Given the description of an element on the screen output the (x, y) to click on. 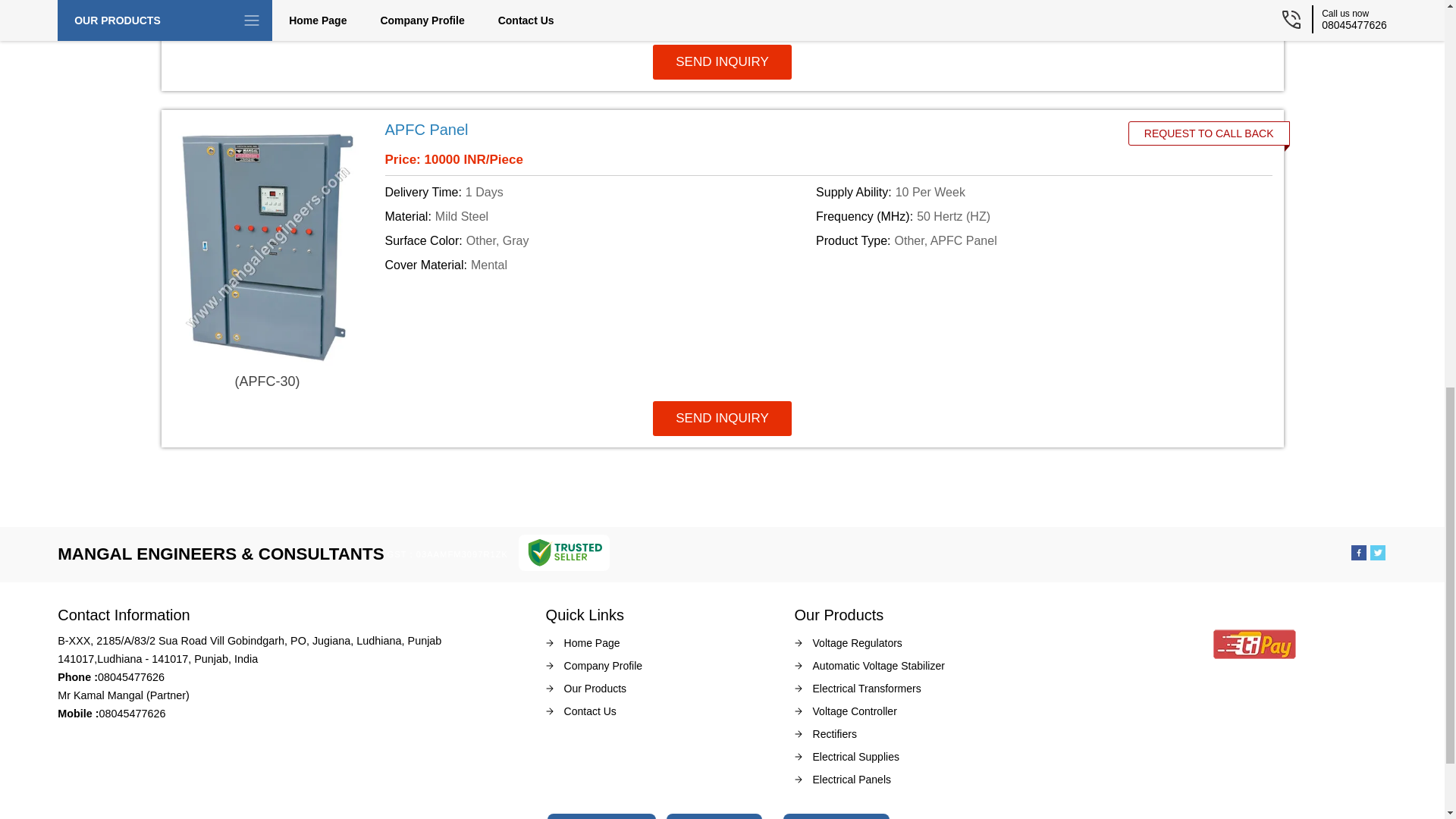
Delivery Time: 1 Days (597, 192)
Material: Mild Steel (597, 217)
APFC Panel (739, 129)
Facebook (1359, 555)
Product Type: Other, APFC Panel (1028, 240)
Surface Color: Other, Gray (597, 240)
Cover Material: Mental (597, 265)
Supply Ability: 10 Per Week (1028, 192)
